Given the description of an element on the screen output the (x, y) to click on. 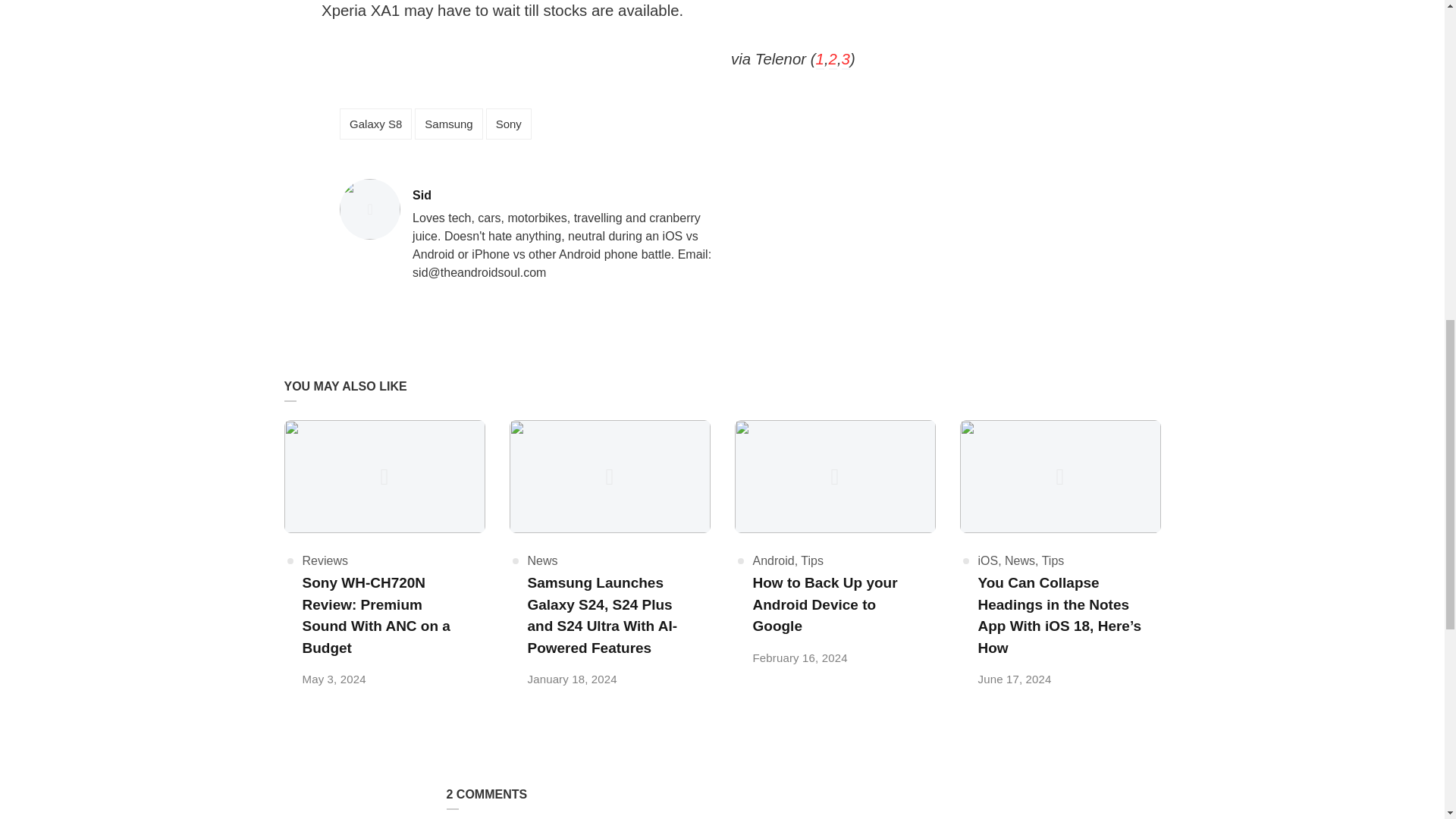
Tips (812, 560)
Sony (508, 123)
Samsung (447, 123)
Galaxy S8 (375, 123)
iOS (564, 195)
Android (988, 560)
News (772, 560)
News (1019, 560)
Reviews (542, 560)
Tips (324, 560)
